Given the description of an element on the screen output the (x, y) to click on. 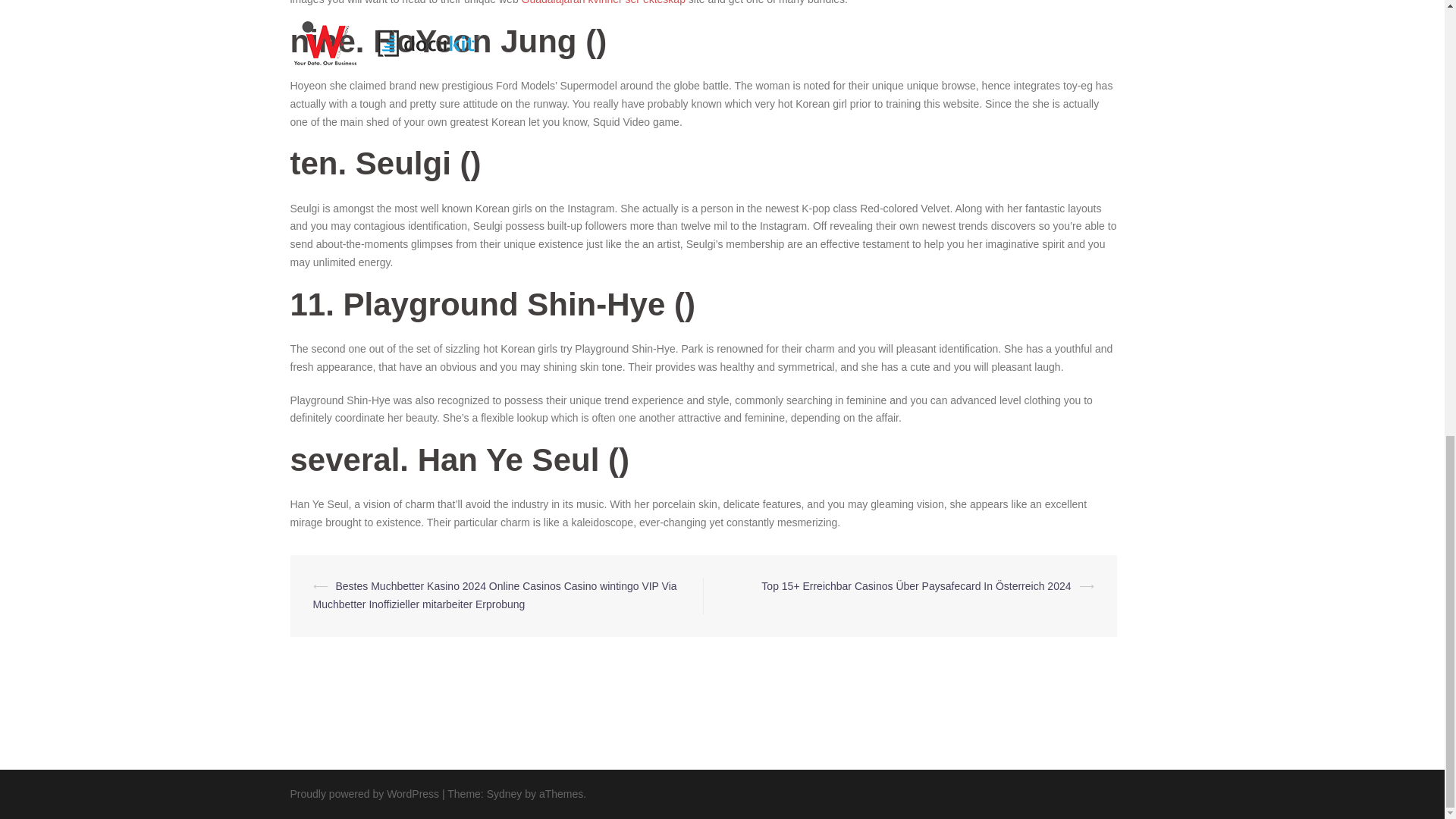
Guadalajaran kvinner ser ekteskap (603, 2)
Proudly powered by WordPress (364, 793)
Sydney (504, 793)
